Given the description of an element on the screen output the (x, y) to click on. 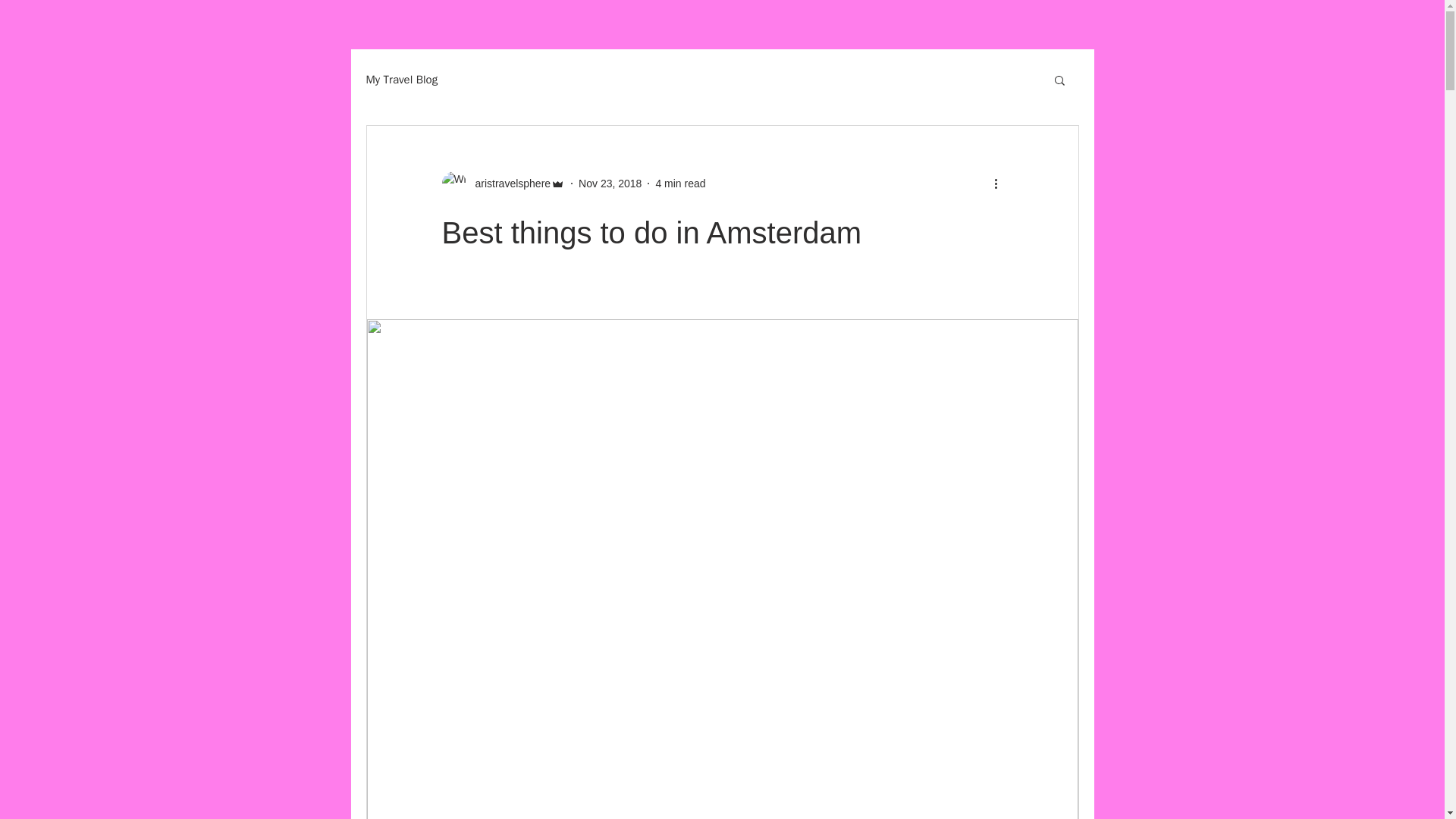
aristravelsphere (507, 183)
Nov 23, 2018 (610, 183)
My Travel Blog (401, 79)
4 min read (679, 183)
aristravelsphere (502, 183)
